Given the description of an element on the screen output the (x, y) to click on. 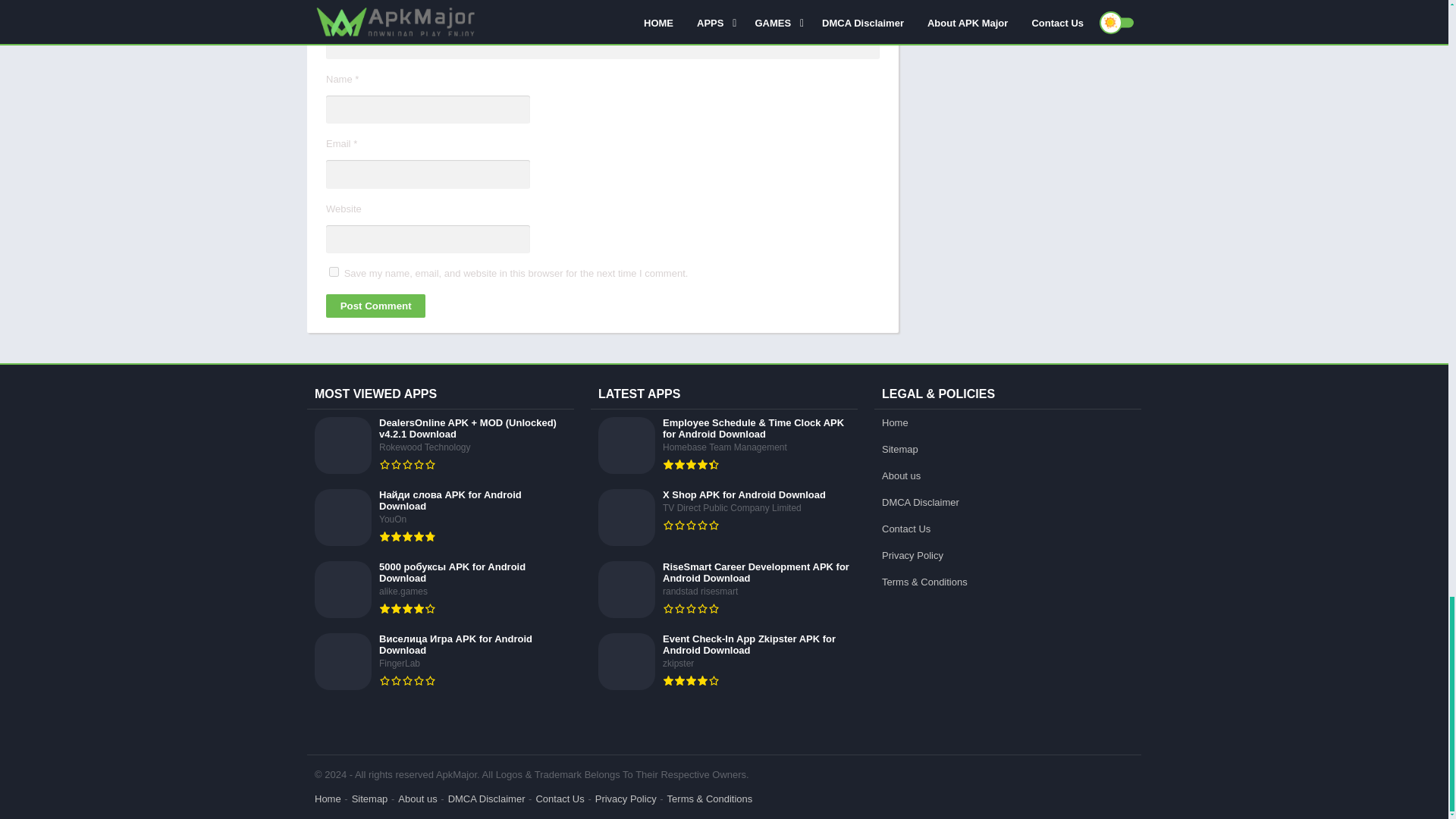
Post Comment (375, 305)
yes (334, 271)
